Given the description of an element on the screen output the (x, y) to click on. 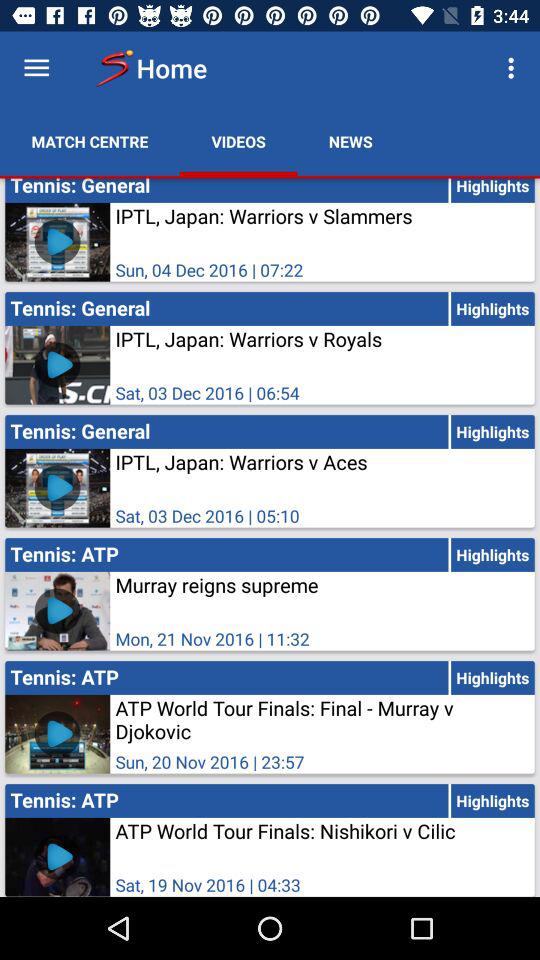
turn off the item above the tennis: general icon (90, 141)
